Given the description of an element on the screen output the (x, y) to click on. 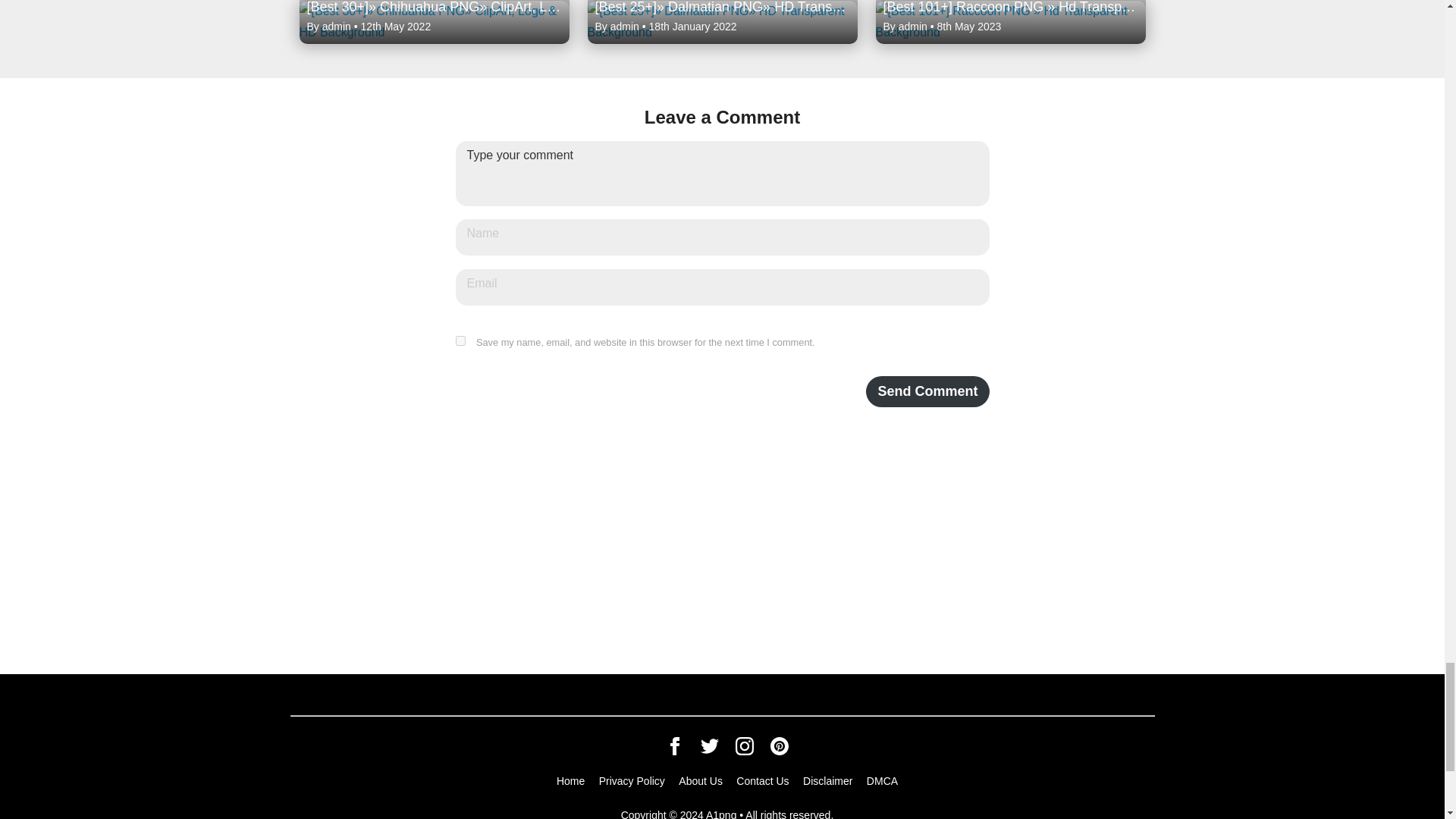
Send Comment (927, 391)
yes (459, 340)
